Given the description of an element on the screen output the (x, y) to click on. 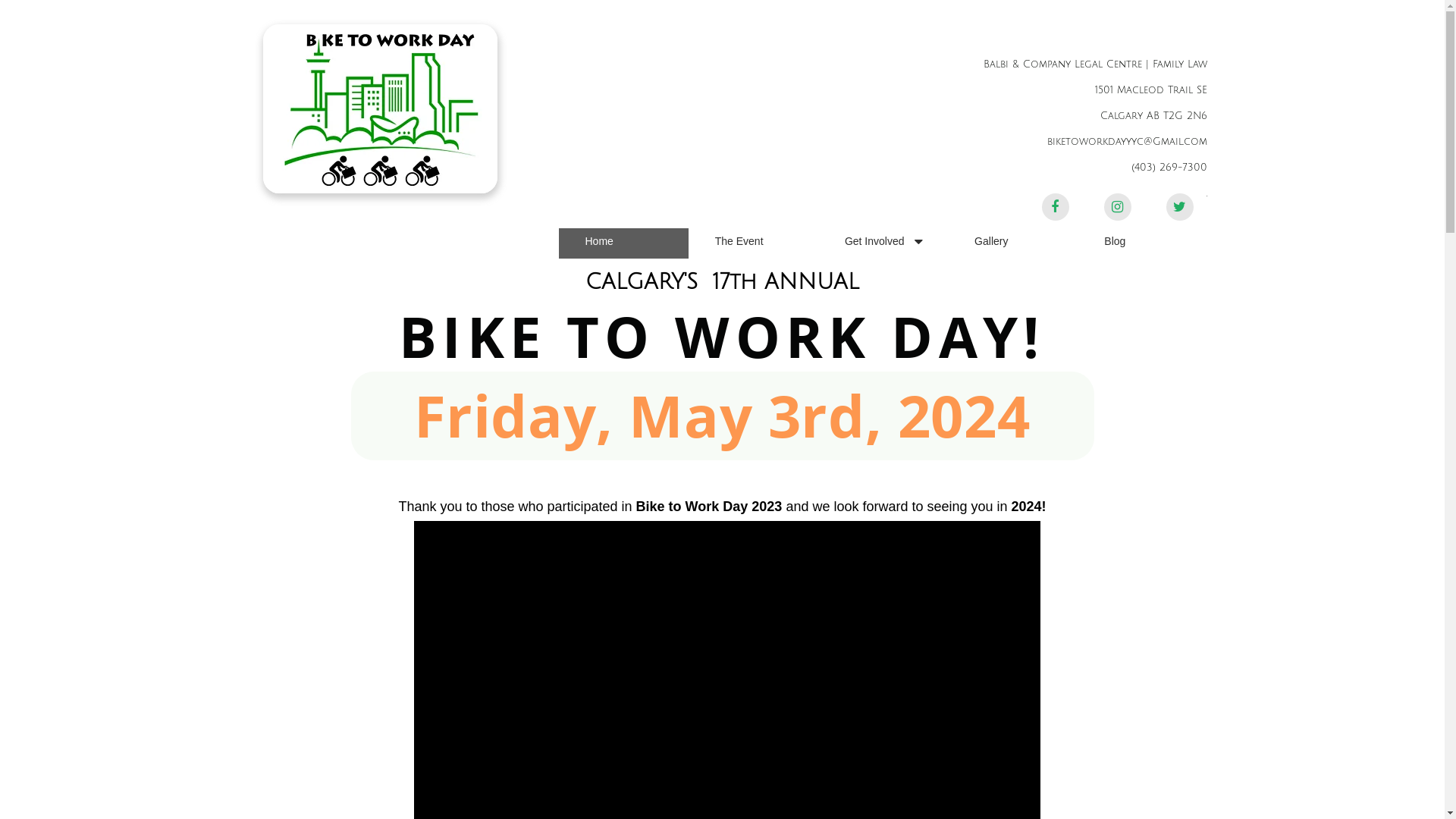
Get Involved Element type: text (882, 243)
Gallery Element type: text (1012, 243)
Home Element type: text (622, 243)
The Event Element type: text (753, 243)
Blog Element type: text (1142, 243)
